Given the description of an element on the screen output the (x, y) to click on. 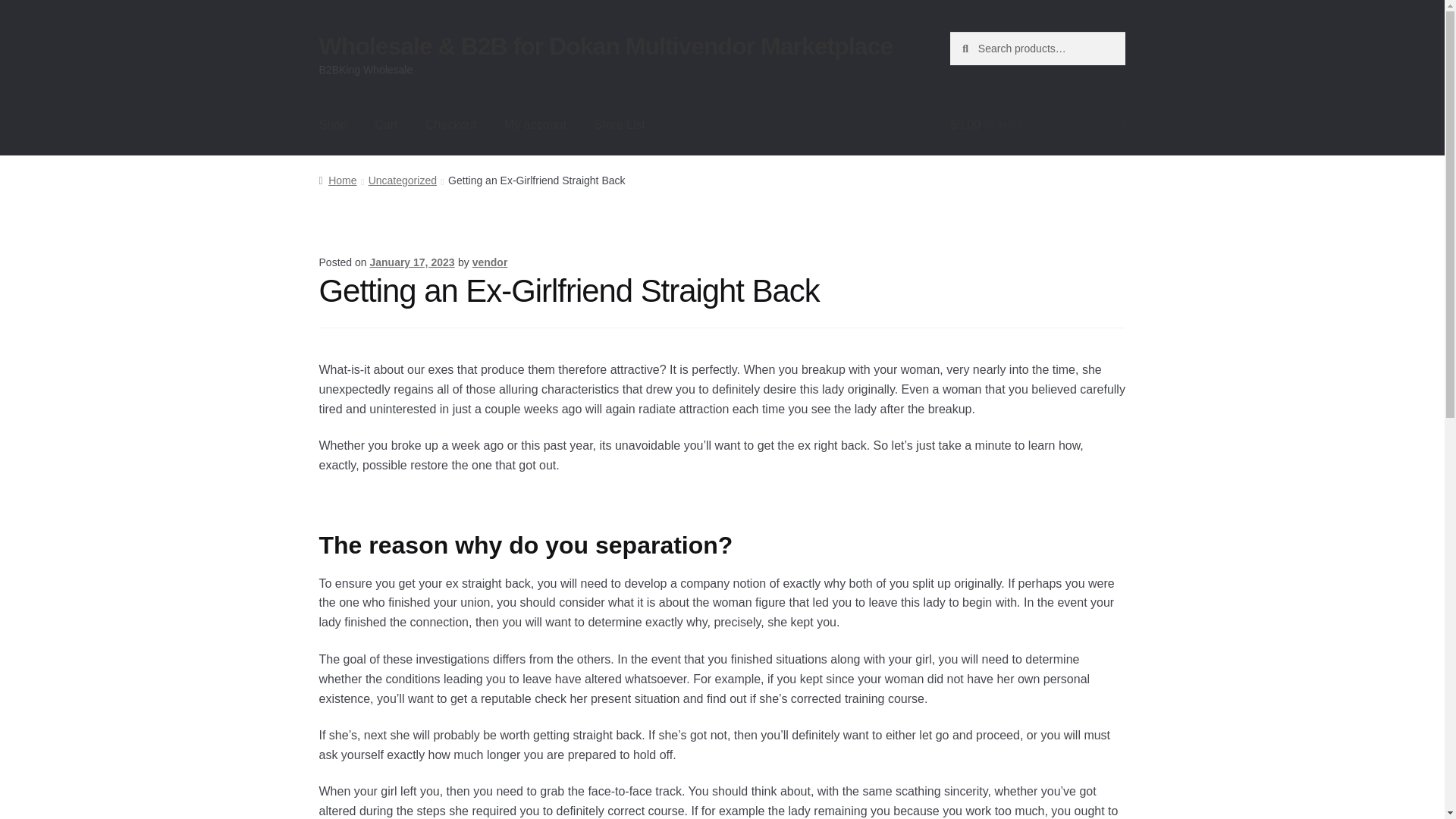
Home (337, 180)
View your shopping cart (1037, 124)
vendor (489, 262)
Uncategorized (402, 180)
My account (535, 124)
Store List (619, 124)
Checkout (451, 124)
January 17, 2023 (411, 262)
